Given the description of an element on the screen output the (x, y) to click on. 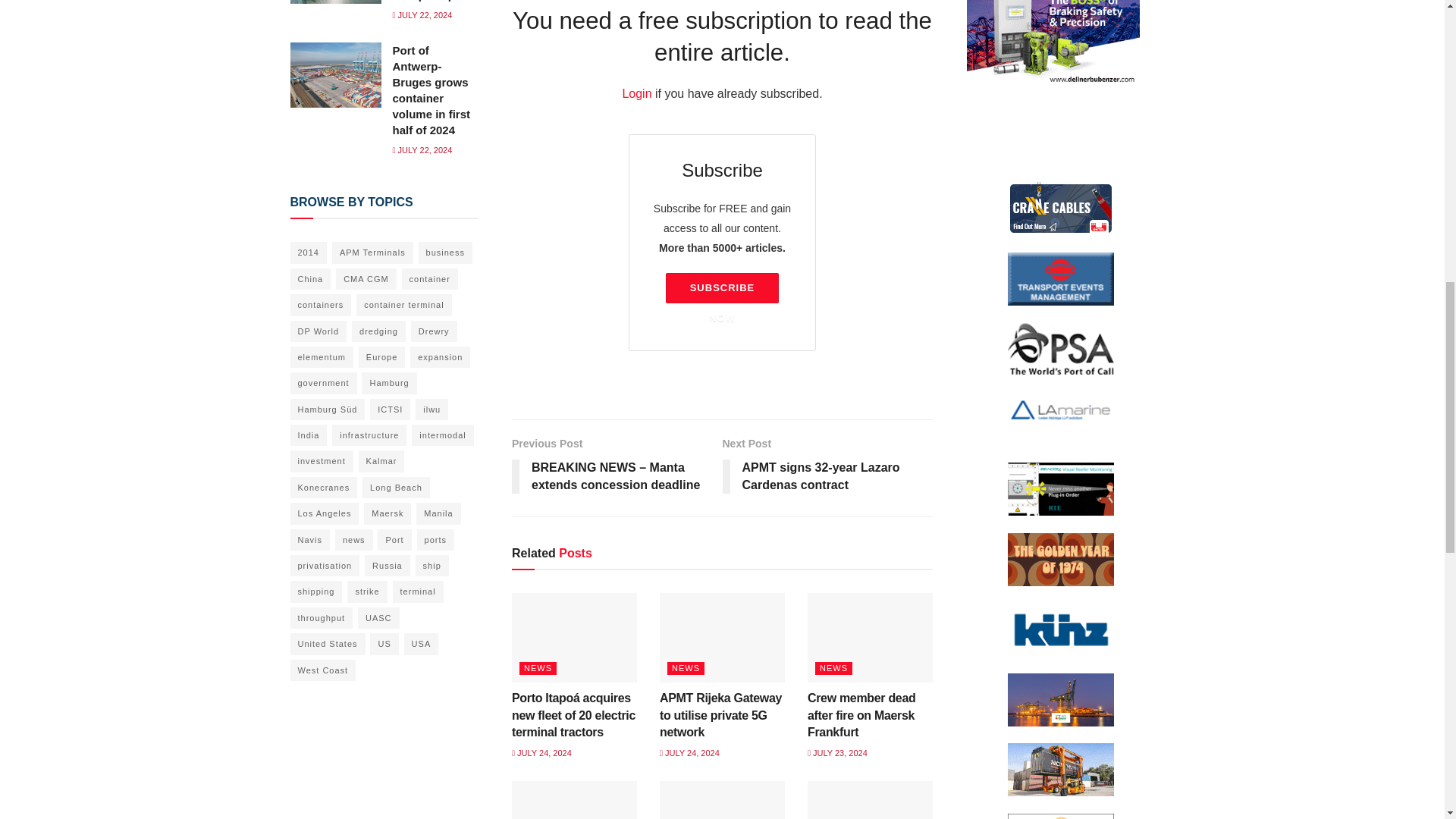
Login (827, 467)
SUBSCRIBE NOW (635, 92)
NEWS (721, 287)
